Given the description of an element on the screen output the (x, y) to click on. 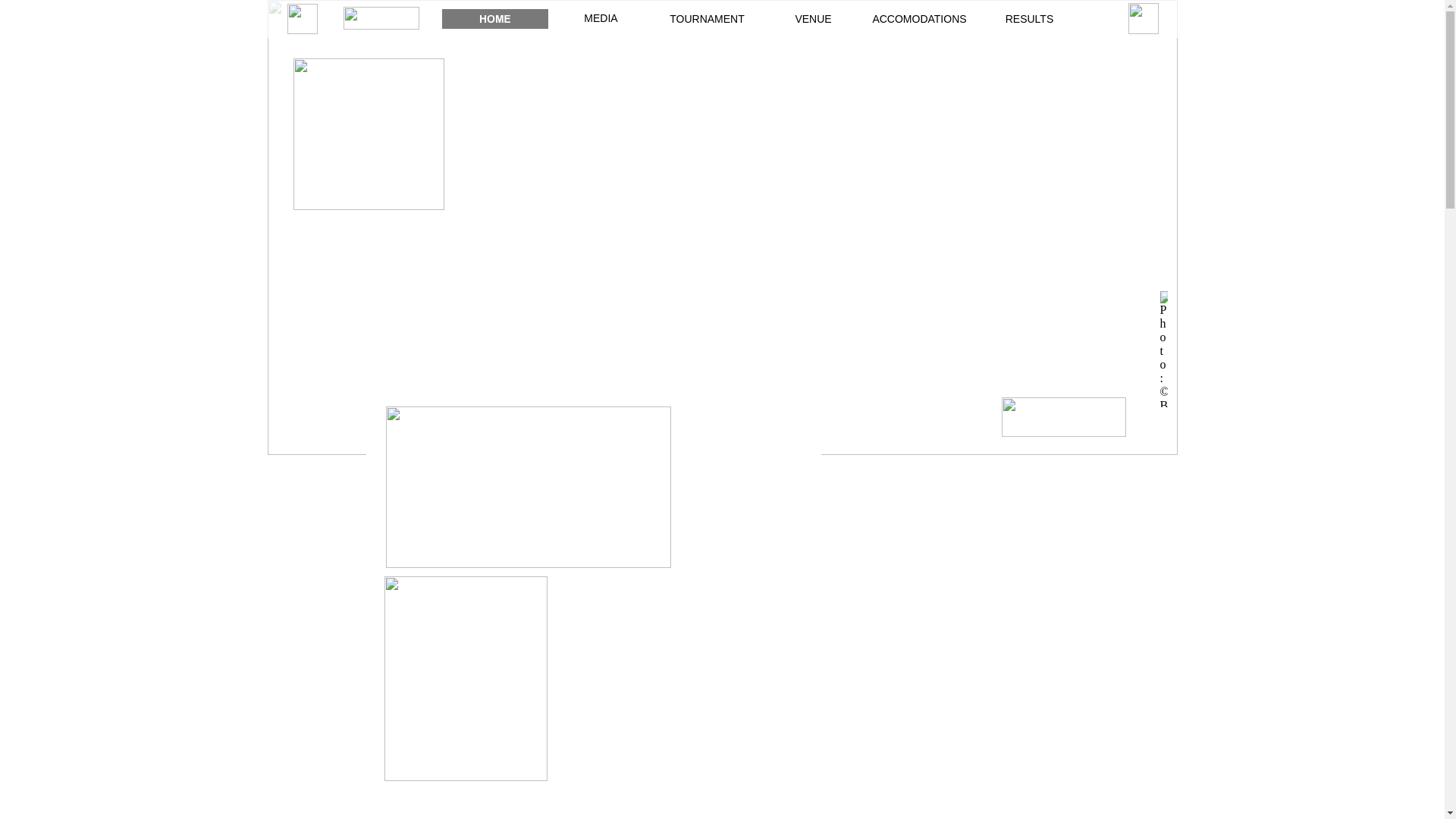
VENUE Element type: text (812, 18)
ACCOMODATIONS Element type: text (919, 18)
http://www.elispace.fr Element type: hover (1063, 432)
https://www.ekf-eu.com Element type: hover (301, 29)
RESULTS Element type: text (1029, 18)
https://cnkendo-dr.com Element type: hover (380, 24)
MEDIA Element type: text (600, 18)
TOURNAMENT Element type: text (706, 18)
